Given the description of an element on the screen output the (x, y) to click on. 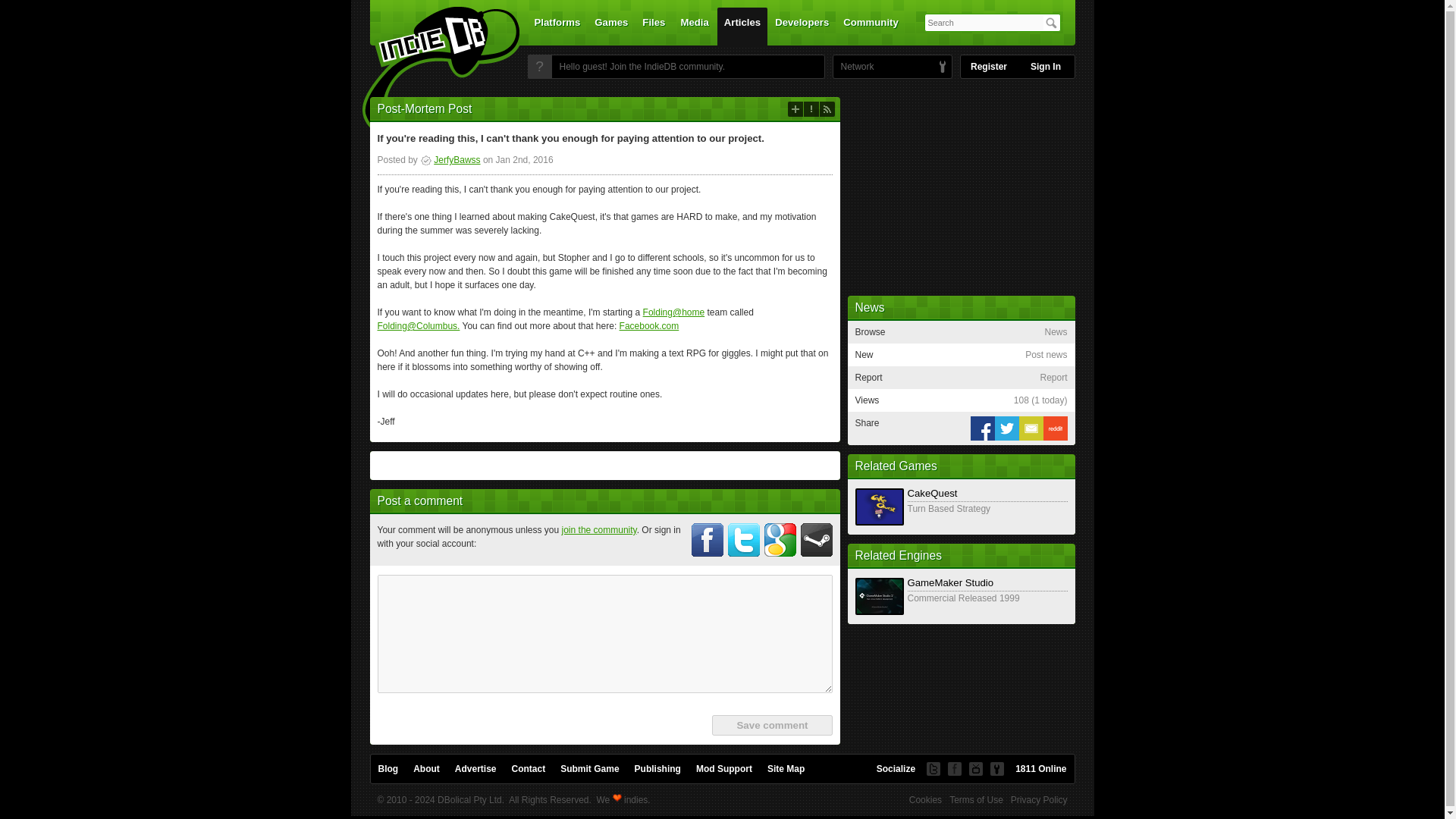
Post-Mortem Post Statistics (1040, 399)
Search IndieDB (1050, 22)
Article Manager (450, 159)
Media (694, 26)
RSS (826, 109)
Files (652, 26)
Save comment (771, 724)
Platforms (557, 26)
DBolical (852, 66)
Click to connect via Twitter (744, 539)
Community (870, 26)
Report (810, 109)
Developers (801, 26)
Click to connect via Google (780, 539)
Click to connect via Steam (816, 539)
